Given the description of an element on the screen output the (x, y) to click on. 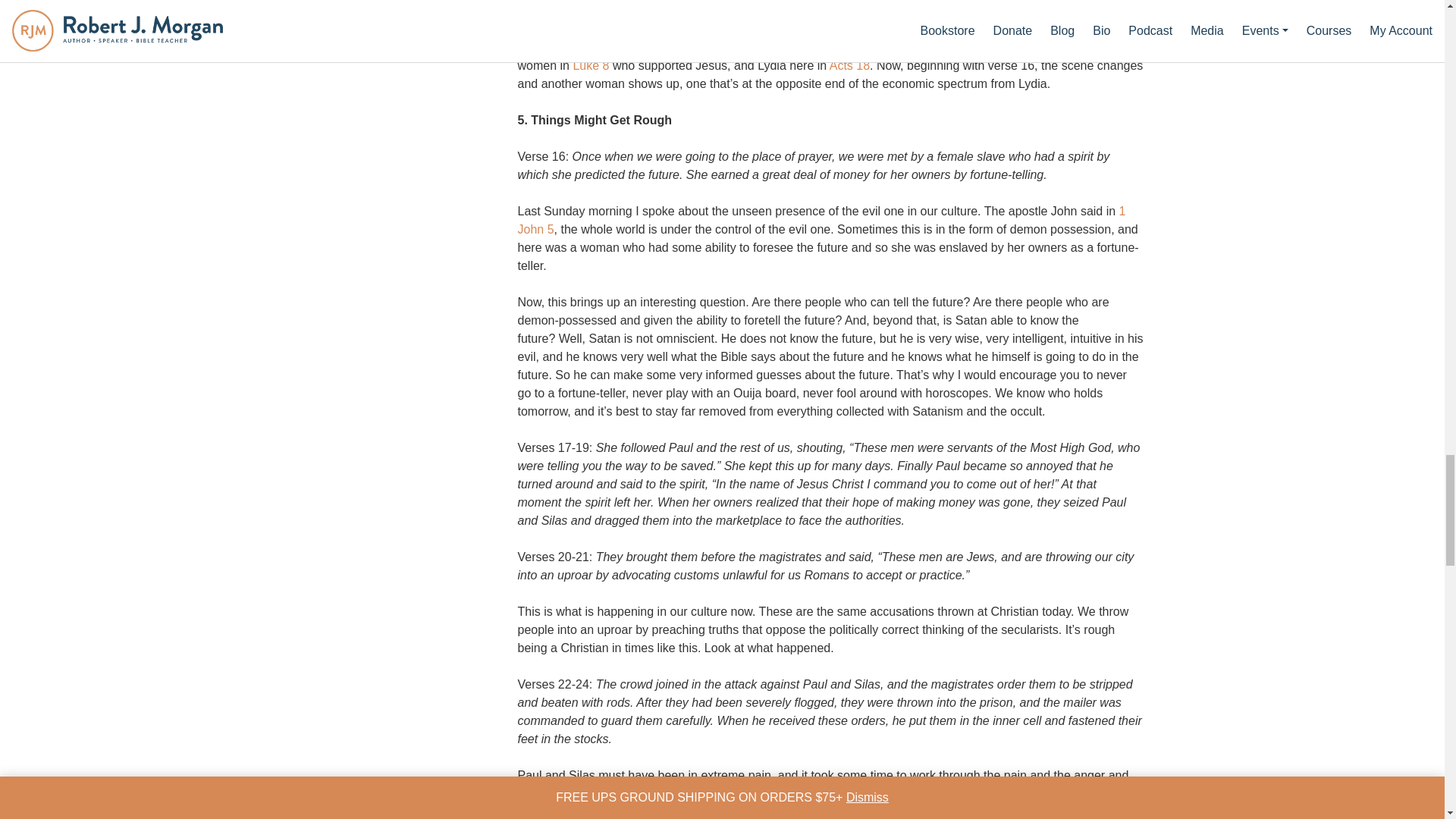
Luke 8 (590, 65)
Proverbs 31 (1077, 47)
1 John 5 (820, 219)
Acts 18 (849, 65)
